Given the description of an element on the screen output the (x, y) to click on. 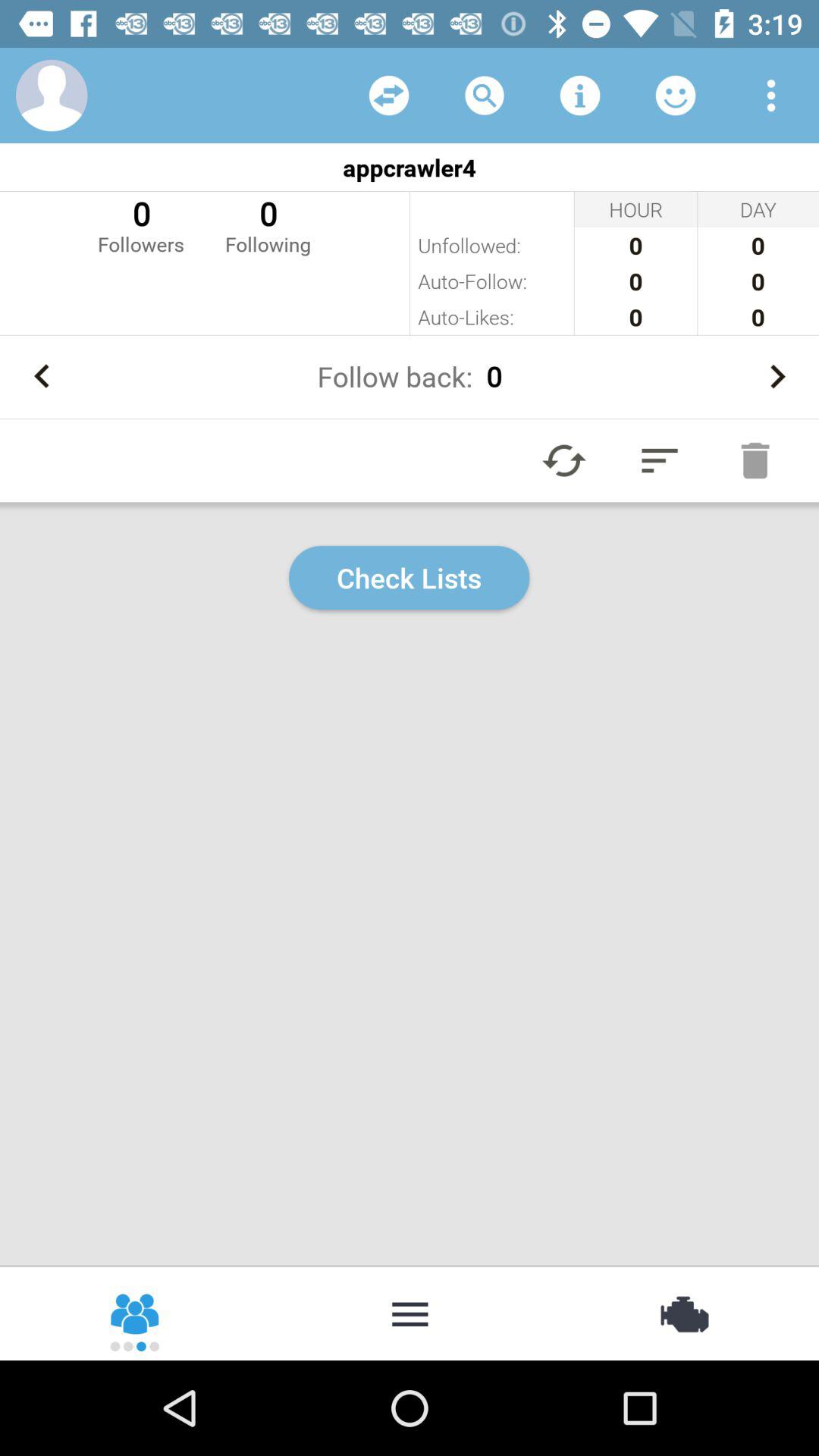
tap for information (579, 95)
